Given the description of an element on the screen output the (x, y) to click on. 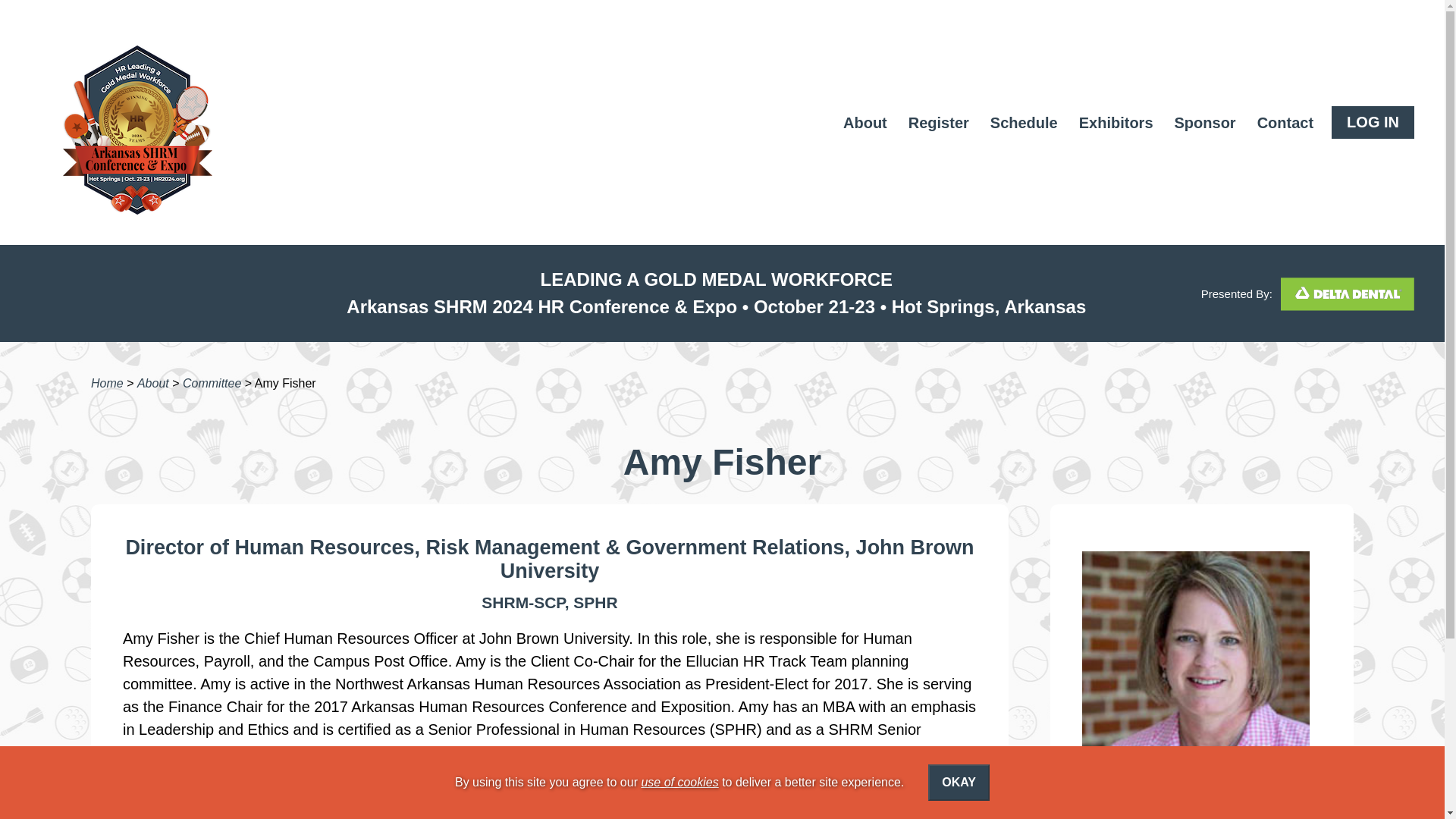
Learn more about John Brown University (737, 559)
Sponsor (1205, 129)
Return to the HR2024 site home page. (121, 122)
Schedule (1024, 129)
Home (106, 382)
About (152, 382)
Register (938, 129)
About (152, 382)
Committee (212, 382)
Log into your account. (1372, 122)
